Given the description of an element on the screen output the (x, y) to click on. 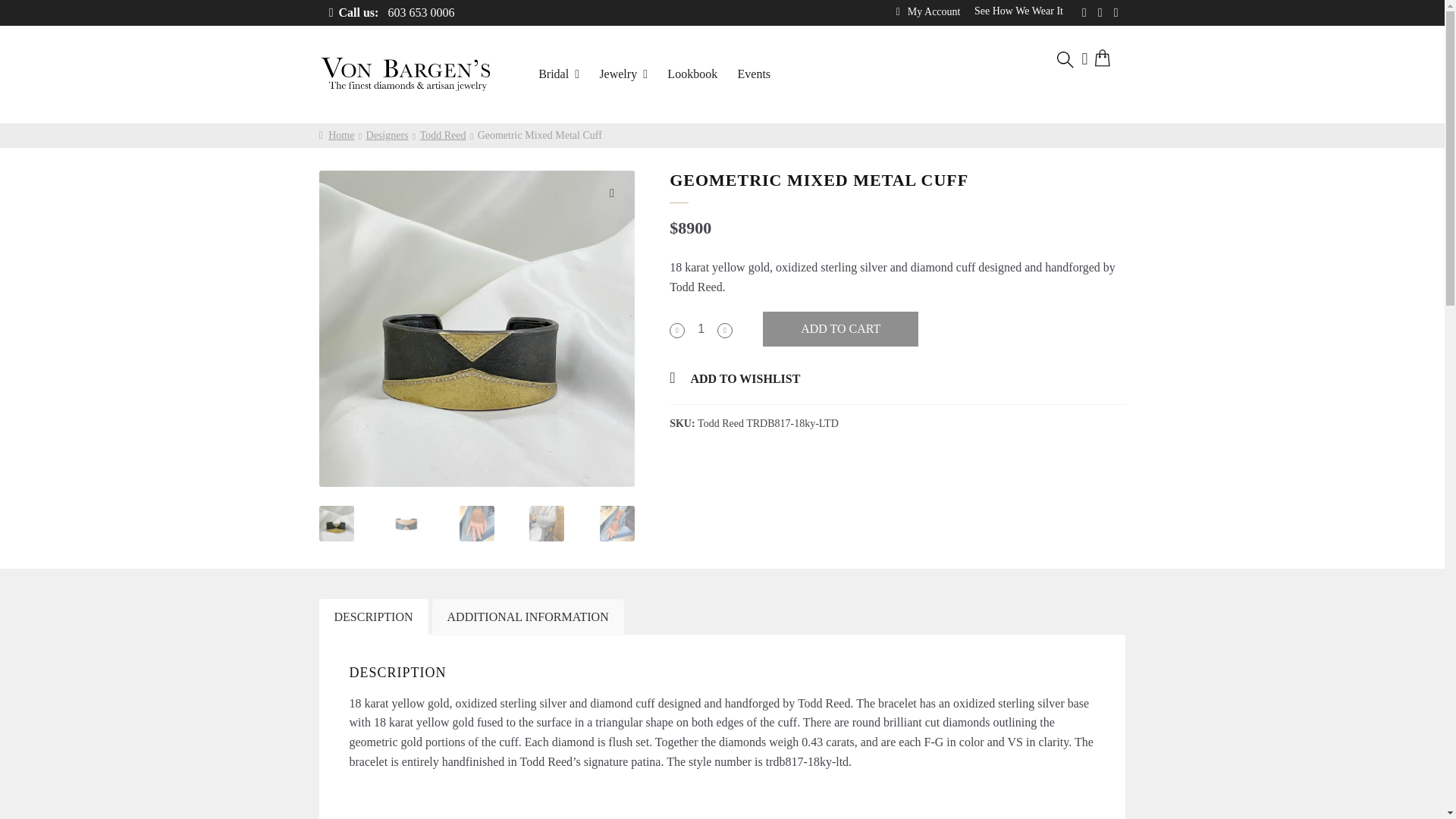
View your shopping cart (1107, 60)
View your Wishlist (1084, 60)
Geometric Mixed Metal Cuff 2 (792, 309)
Qty (700, 329)
603 653 0006 (389, 12)
Add to Wishlist (734, 378)
Bridal (558, 74)
See How We Wear It (1019, 11)
My Account (928, 12)
1 (700, 329)
Geometric Mixed Metal Cuff 1 (476, 328)
